Given the description of an element on the screen output the (x, y) to click on. 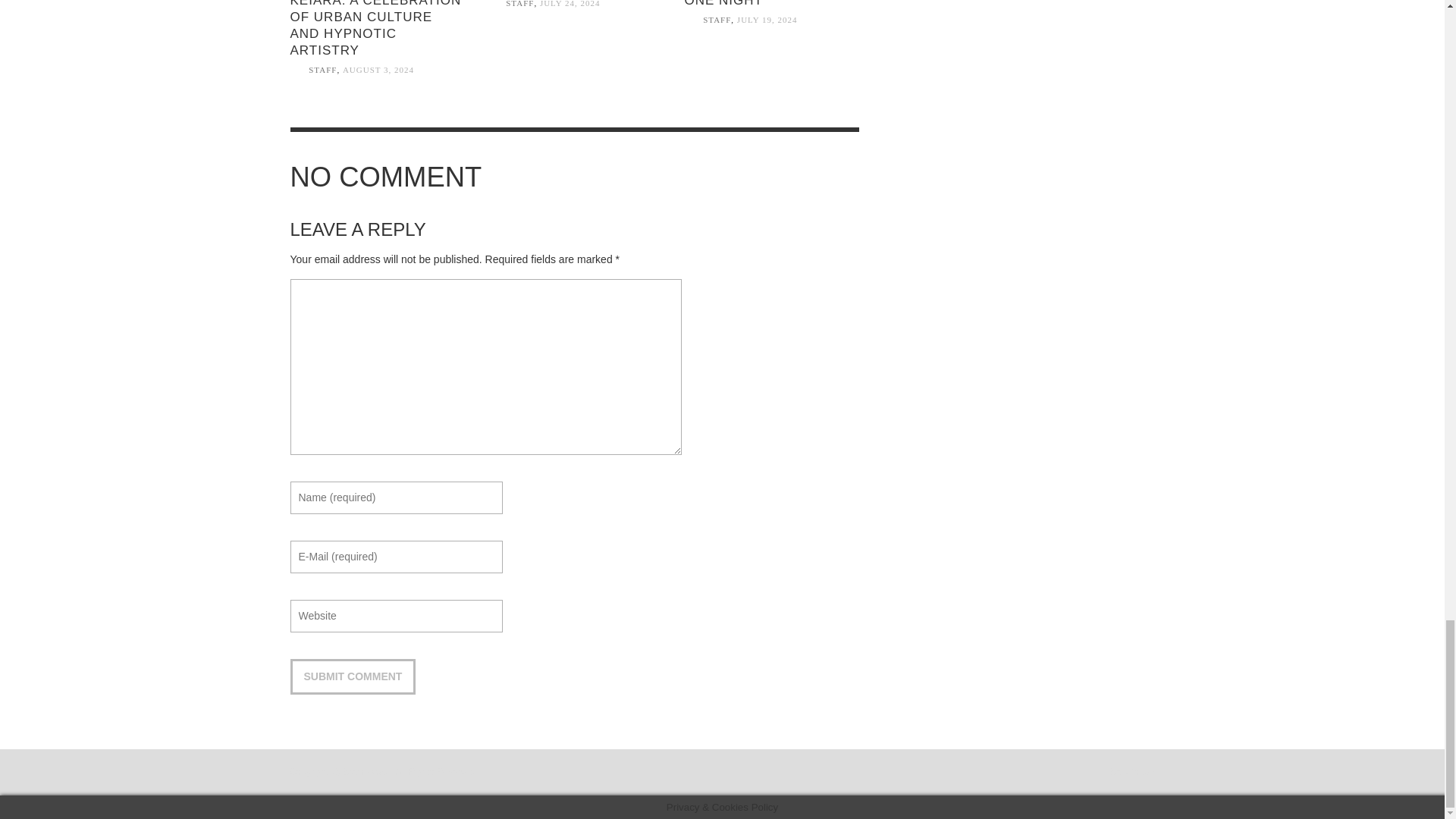
Submit comment (351, 676)
